Given the description of an element on the screen output the (x, y) to click on. 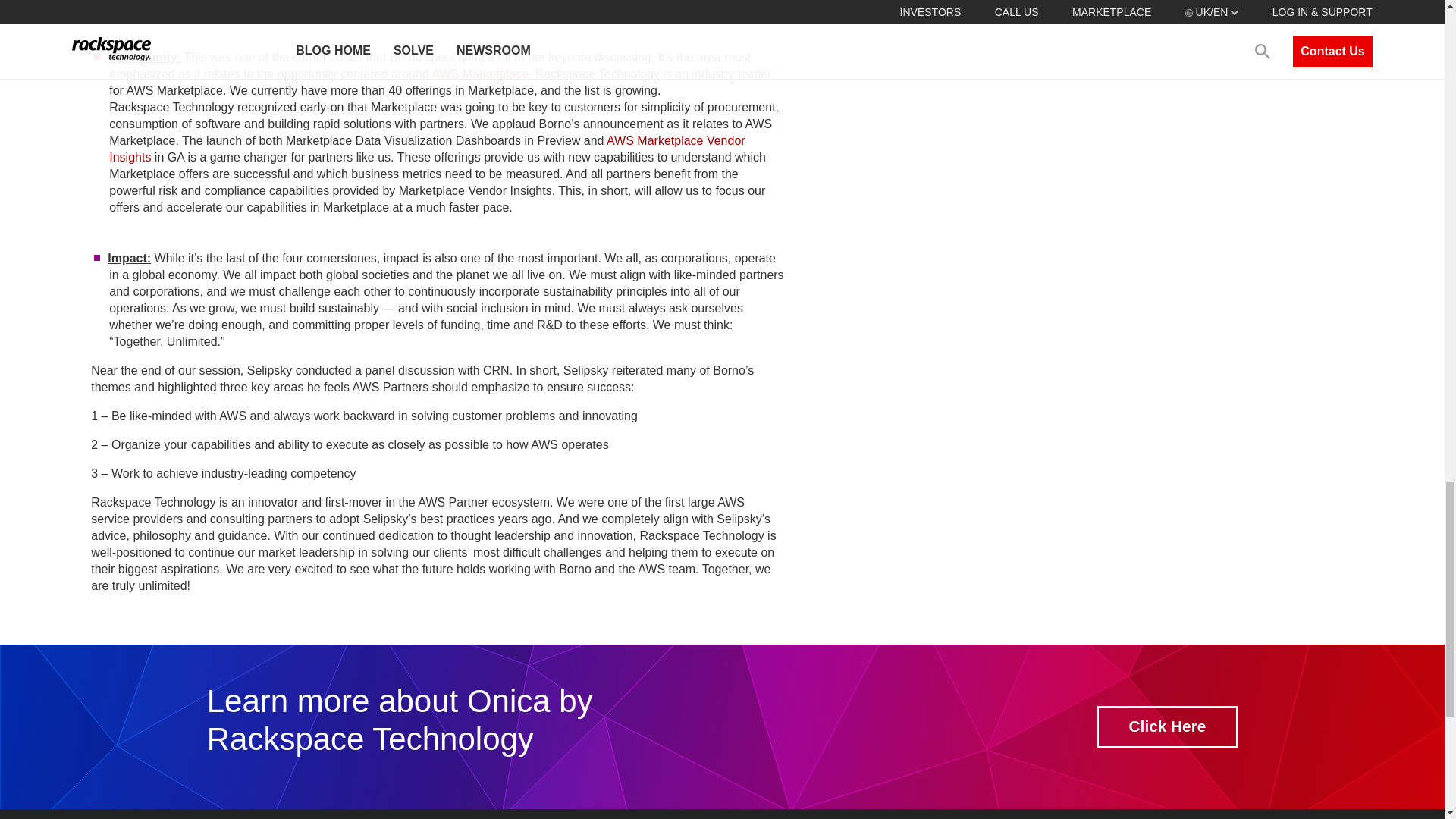
AWS Marketplace (478, 73)
AWS Marketplace Vendor Insights (426, 148)
Click Here (1168, 726)
